Given the description of an element on the screen output the (x, y) to click on. 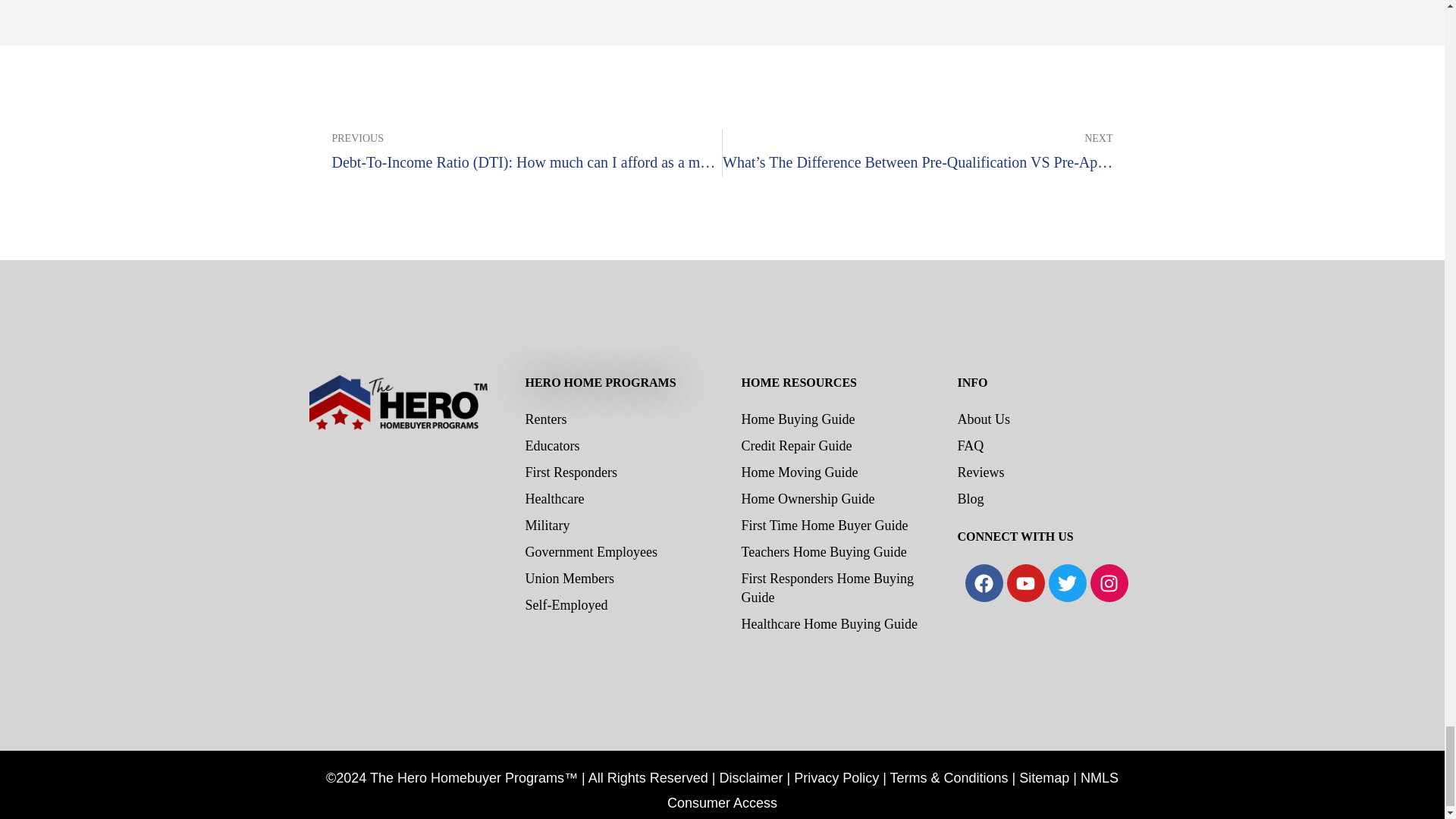
logo-removebg-preview (397, 483)
